Given the description of an element on the screen output the (x, y) to click on. 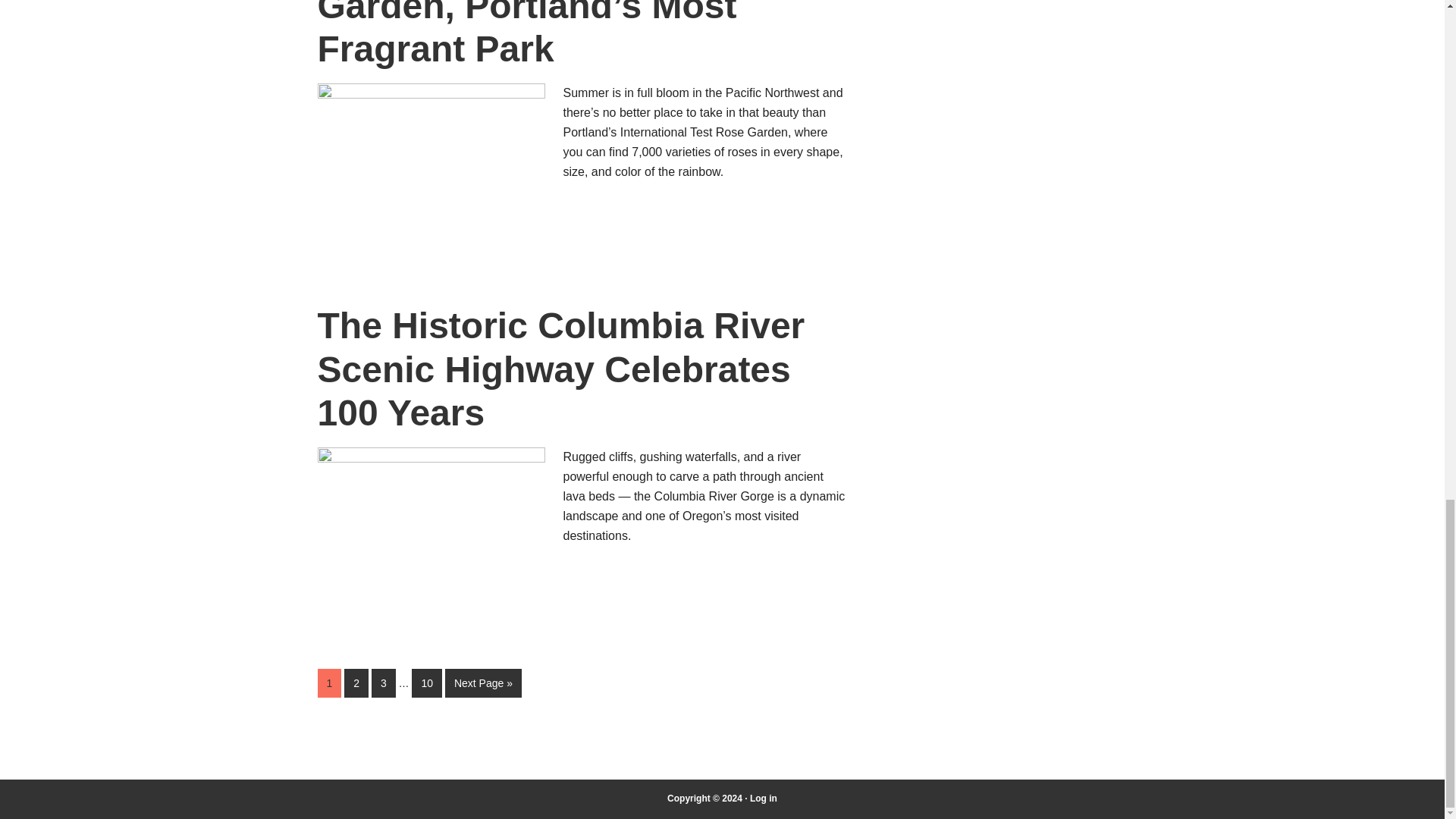
Log in (763, 798)
